Given the description of an element on the screen output the (x, y) to click on. 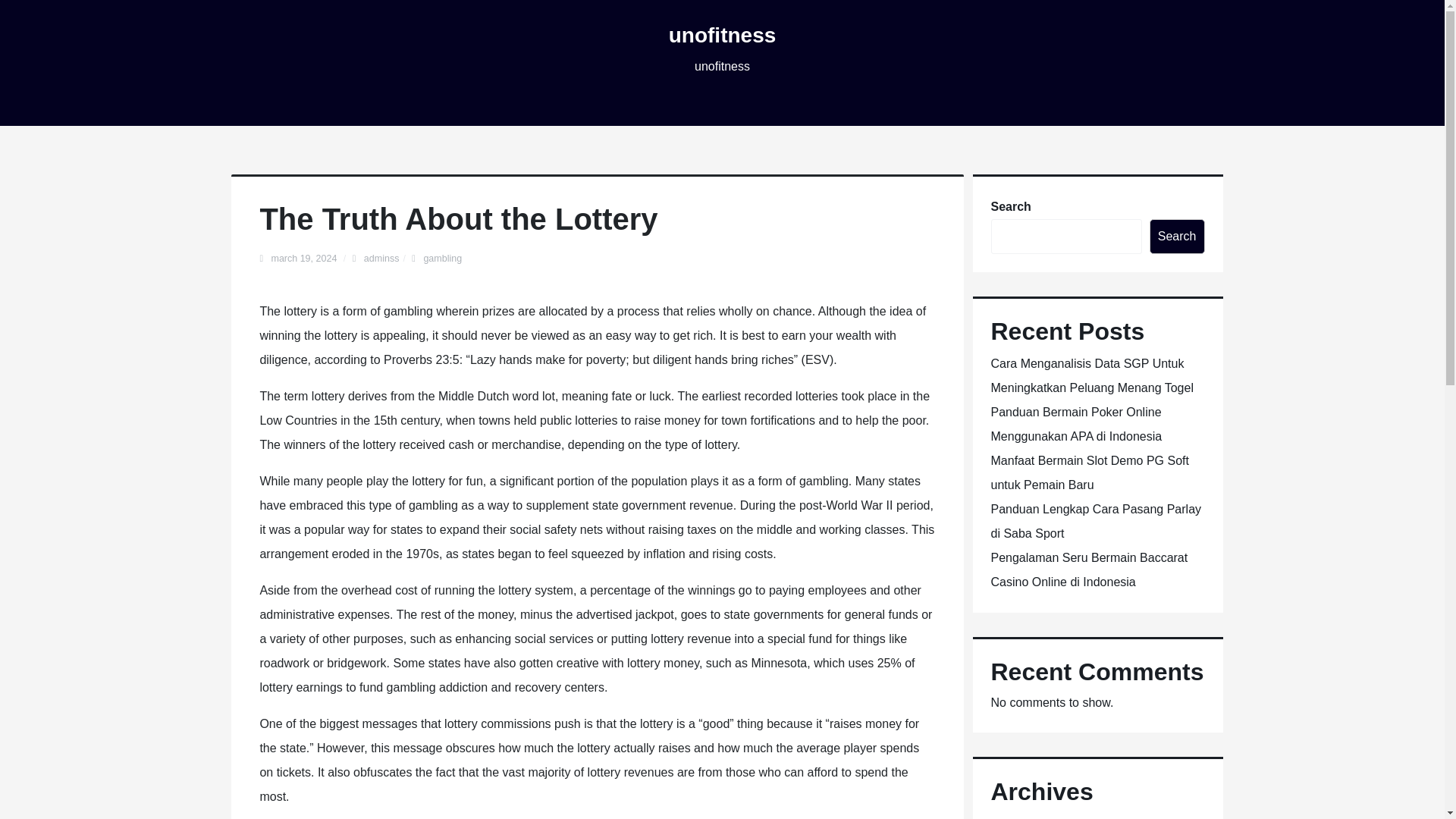
Panduan Lengkap Cara Pasang Parlay di Saba Sport (1095, 520)
July 2024 (1016, 818)
gambling (442, 258)
Manfaat Bermain Slot Demo PG Soft untuk Pemain Baru (1089, 472)
Pengalaman Seru Bermain Baccarat Casino Online di Indonesia (1089, 569)
Search (1177, 236)
unofitness (722, 34)
Panduan Bermain Poker Online Menggunakan APA di Indonesia (1075, 424)
march 19, 2024 (304, 258)
adminss (381, 258)
